Given the description of an element on the screen output the (x, y) to click on. 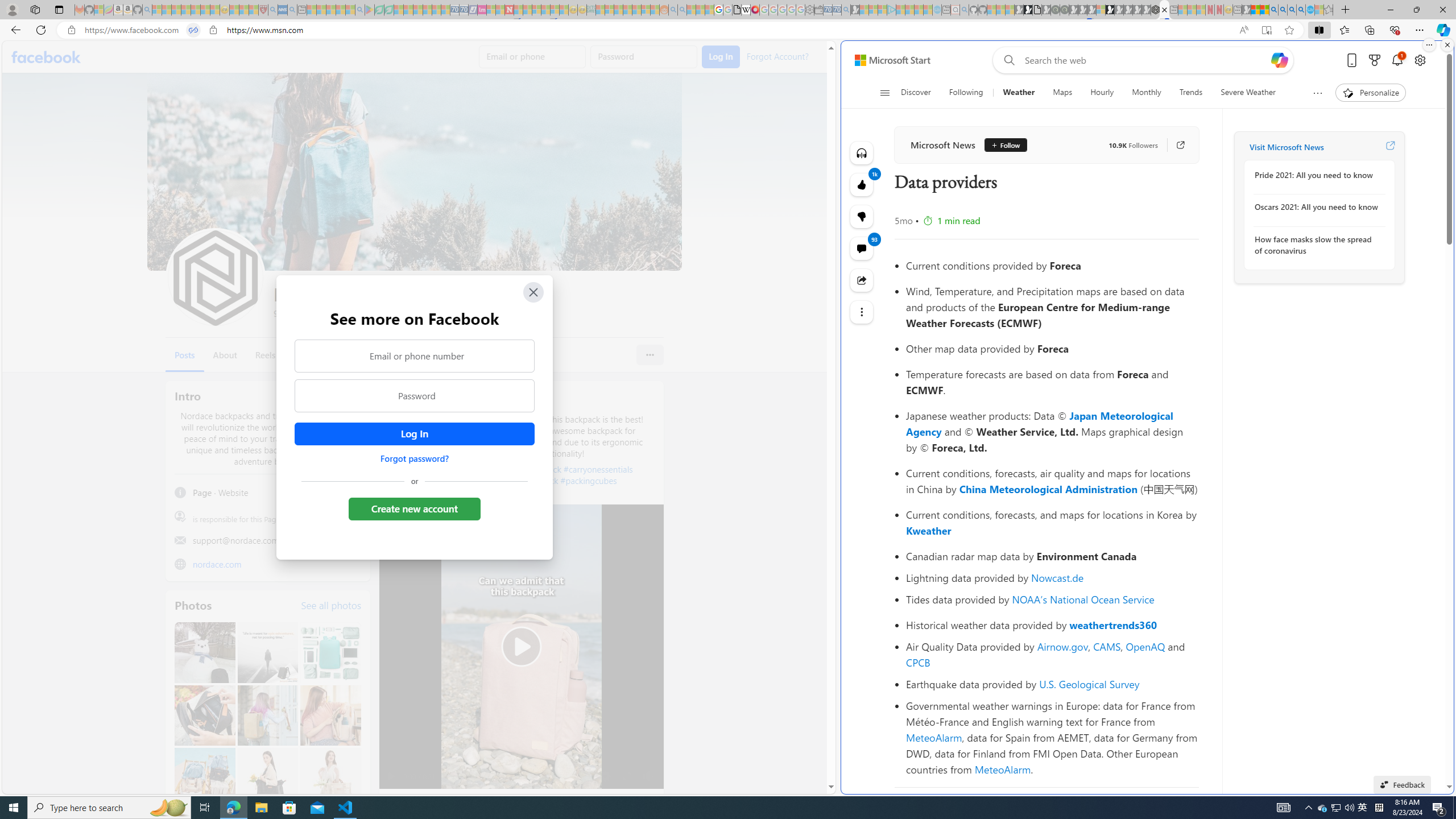
App bar (728, 29)
U.S. Geological Survey (1089, 684)
Kweather (928, 530)
New Report Confirms 2023 Was Record Hot | Watch - Sleeping (195, 9)
Maps (1062, 92)
Microsoft Start - Sleeping (919, 9)
View site information (213, 29)
Skip to footer (885, 59)
See more (861, 311)
Monthly (1146, 92)
Personalize (1370, 92)
The Weather Channel - MSN - Sleeping (175, 9)
Nowcast.de (1057, 577)
